Given the description of an element on the screen output the (x, y) to click on. 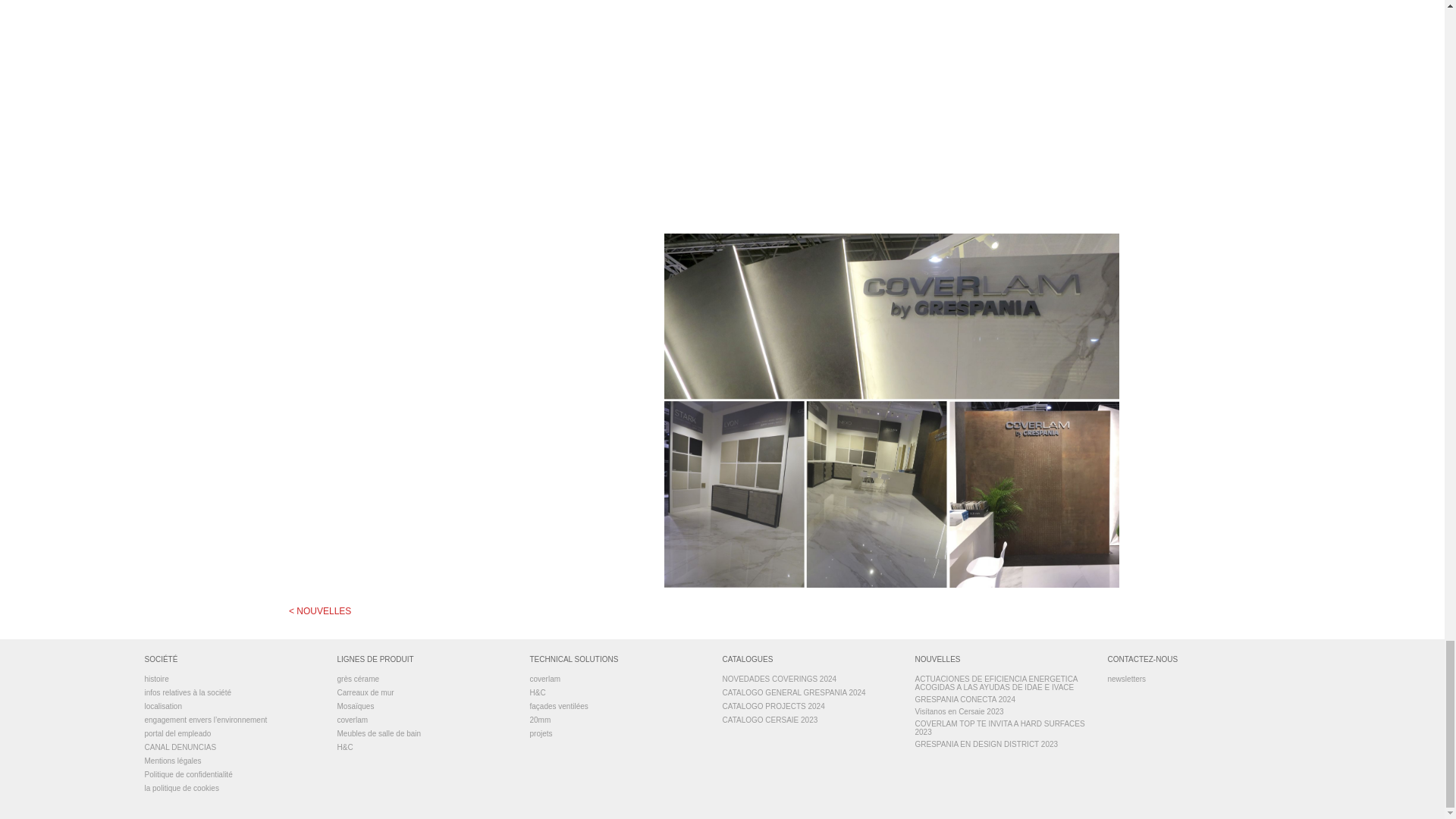
localisation (231, 707)
LIGNES DE PRODUIT (424, 661)
histoire (231, 680)
CANAL DENUNCIAS (231, 748)
portal del empleado (231, 735)
la politique de cookies (231, 789)
